Given the description of an element on the screen output the (x, y) to click on. 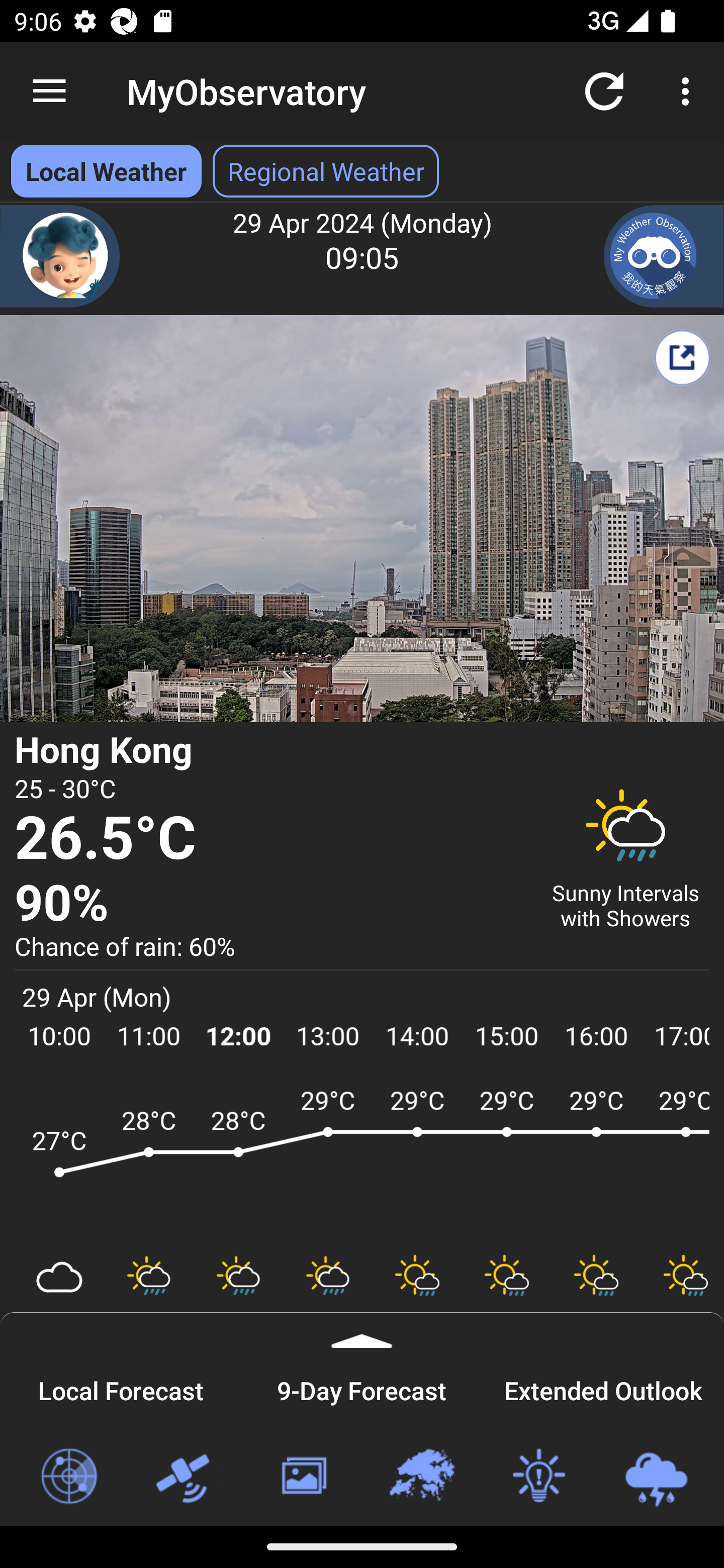
Navigate up (49, 91)
Refresh (604, 90)
More options (688, 90)
Local Weather Local Weather selected (105, 170)
Regional Weather Select Regional Weather (325, 170)
Chatbot (60, 256)
My Weather Observation (663, 256)
Share My Weather Report (681, 357)
26.5°C Temperature
26.5 degree Celsius (270, 839)
90% Relative Humidity
90 percent (270, 903)
ARWF (361, 1160)
Expand (362, 1330)
Local Forecast (120, 1387)
Extended Outlook (603, 1387)
Radar Images (68, 1476)
Satellite Images (185, 1476)
Weather Photos (302, 1476)
Regional Weather (420, 1476)
Weather Tips (537, 1476)
Loc-based Rain & Lightning Forecast (655, 1476)
